Given the description of an element on the screen output the (x, y) to click on. 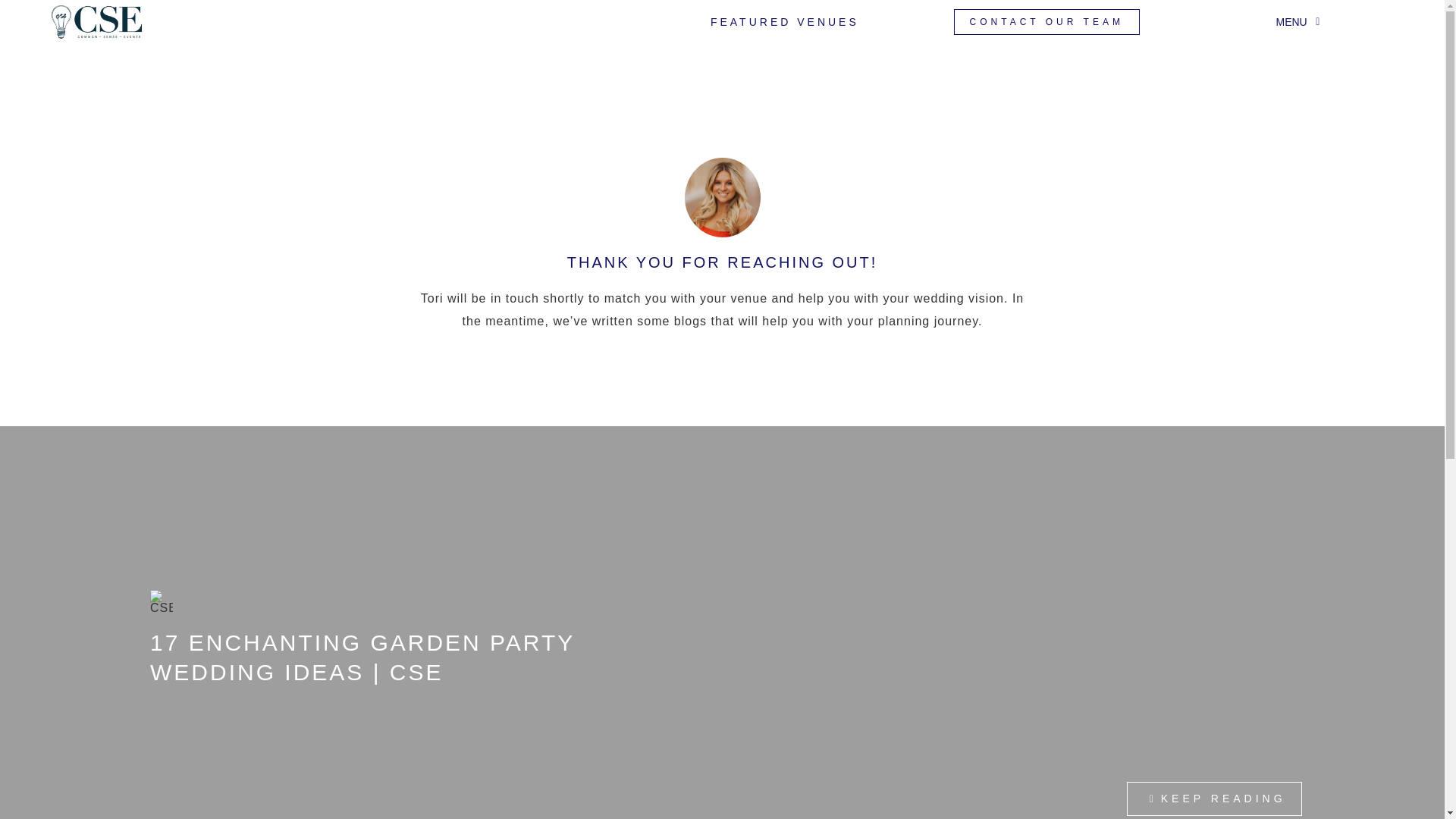
MENU (1299, 21)
KEEP READING (1213, 798)
CSE white favicon (161, 600)
FEATURED VENUES (784, 21)
tory whillock common sense events (722, 197)
CONTACT OUR TEAM (1046, 22)
